Given the description of an element on the screen output the (x, y) to click on. 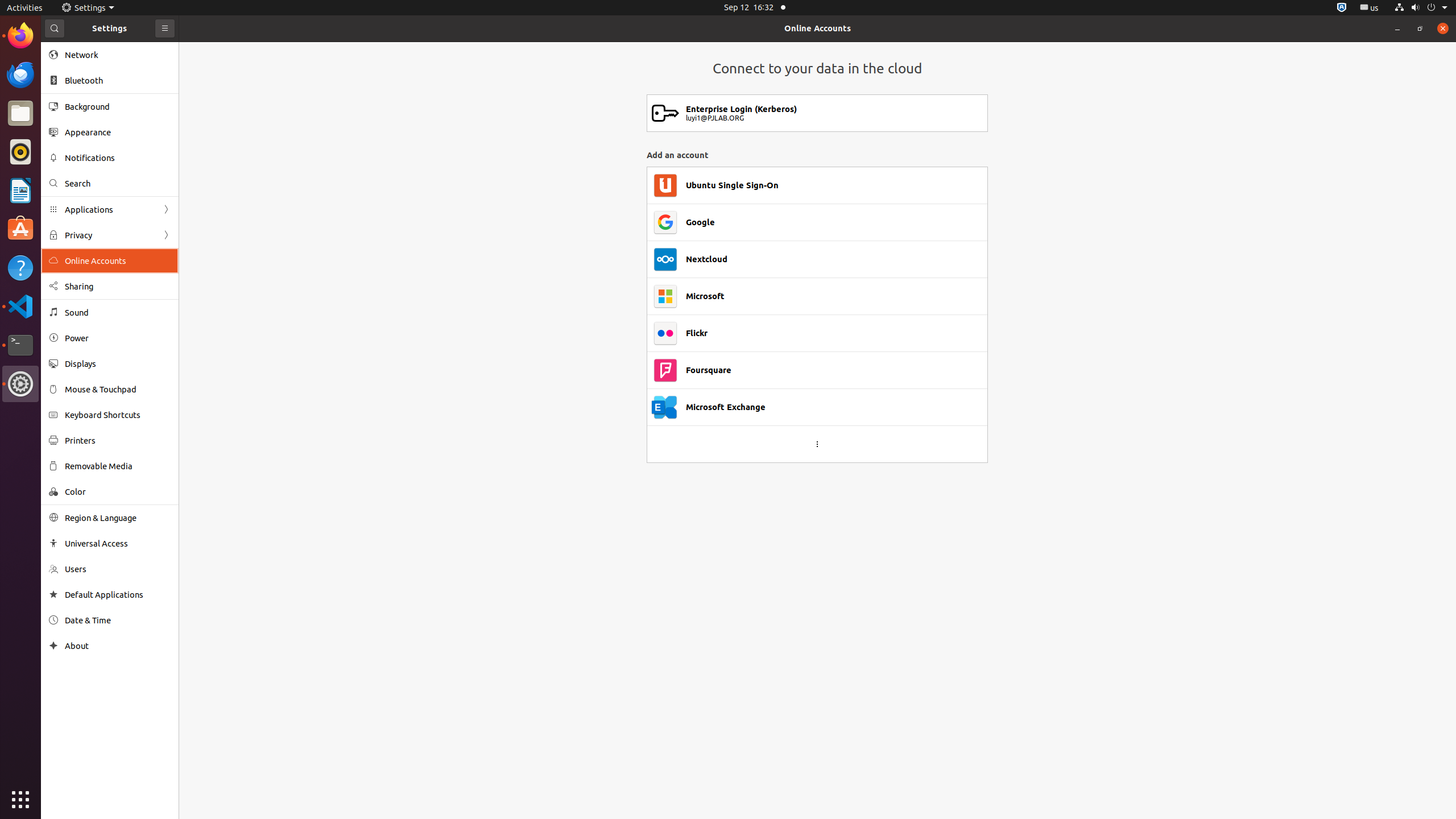
Nextcloud Element type: label (706, 259)
Keyboard Shortcuts Element type: label (117, 414)
Forward Element type: icon (165, 235)
Background Element type: label (117, 106)
Appearance Element type: label (117, 132)
